Given the description of an element on the screen output the (x, y) to click on. 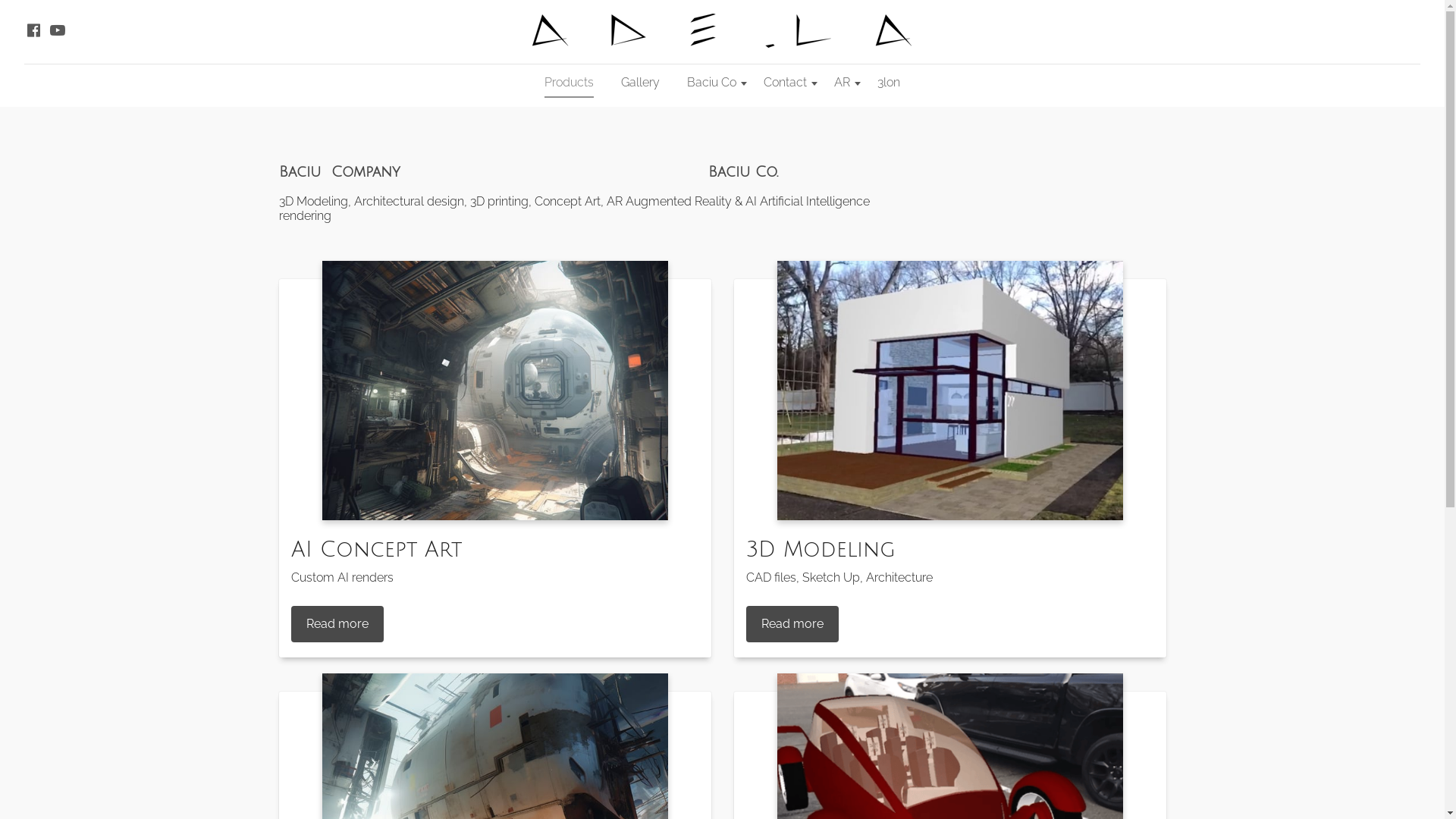
Baciu Co Element type: text (711, 82)
3lon Element type: text (888, 82)
Products Element type: text (568, 82)
AR Element type: text (842, 82)
Gallery Element type: text (639, 82)
Contact Element type: text (785, 82)
Read more Element type: text (337, 623)
Read more Element type: text (792, 623)
